Given the description of an element on the screen output the (x, y) to click on. 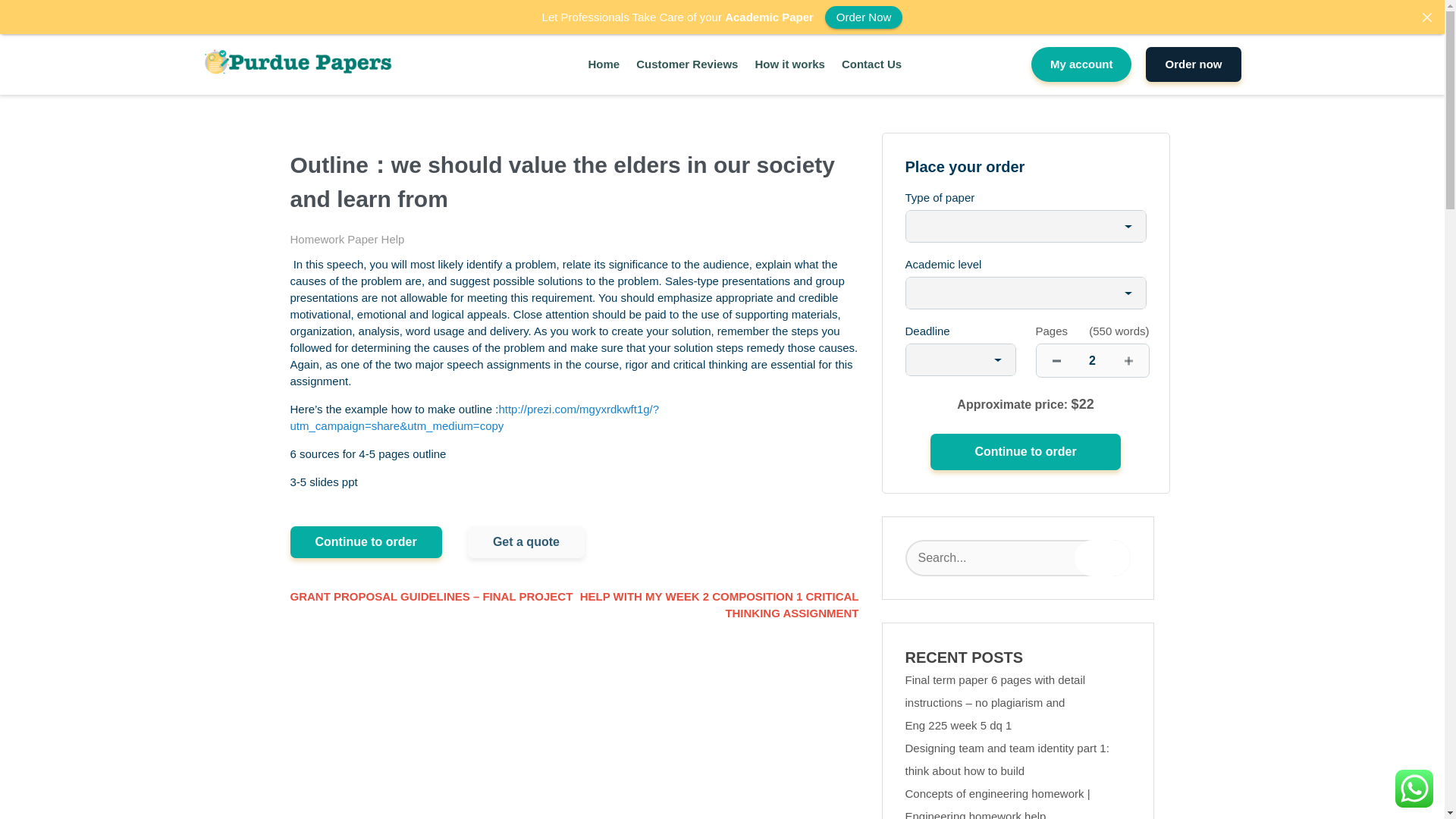
Close (1426, 17)
Search (1102, 557)
How it works (789, 64)
Homework Paper Help (346, 238)
Continue to order (1024, 452)
2 (1091, 359)
Home (604, 64)
Customer Reviews (687, 64)
Get a quote (526, 541)
Search (1102, 557)
Contact Us (871, 64)
Eng 225 week 5 dq 1 (958, 725)
Order now (1192, 63)
